Given the description of an element on the screen output the (x, y) to click on. 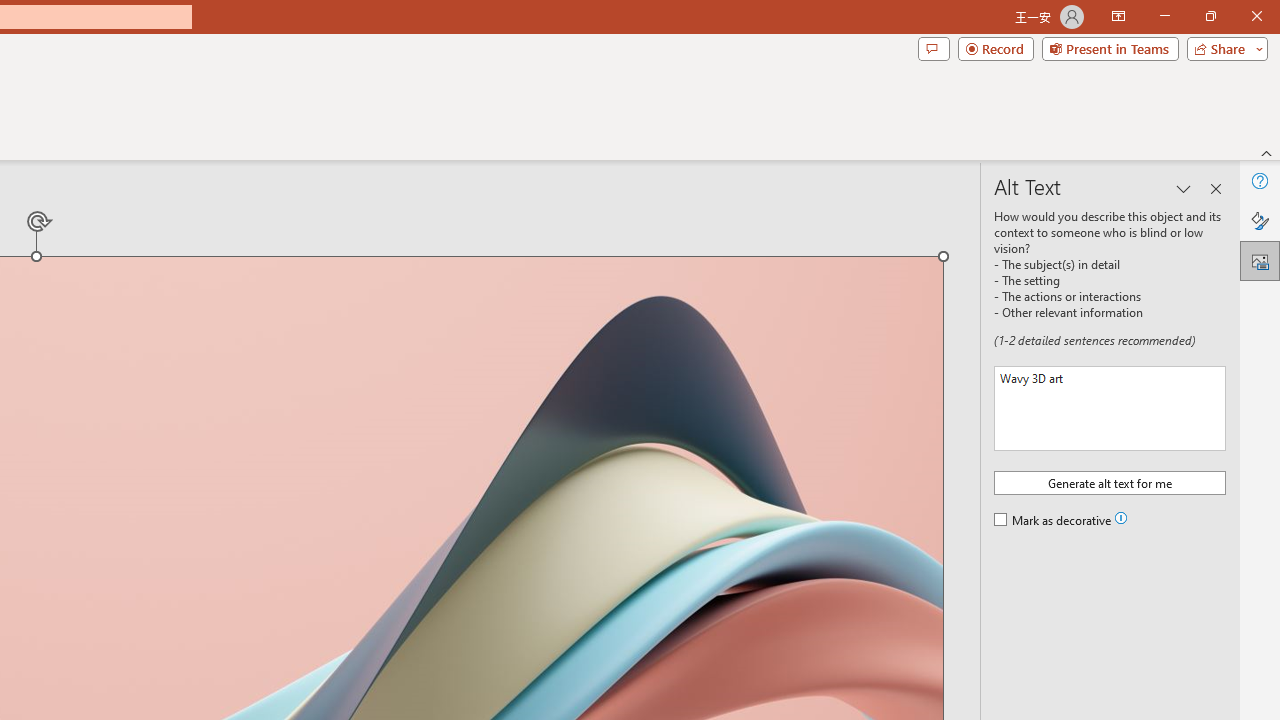
Mark as decorative (1054, 521)
Description (1110, 408)
Format Picture (1260, 220)
